Given the description of an element on the screen output the (x, y) to click on. 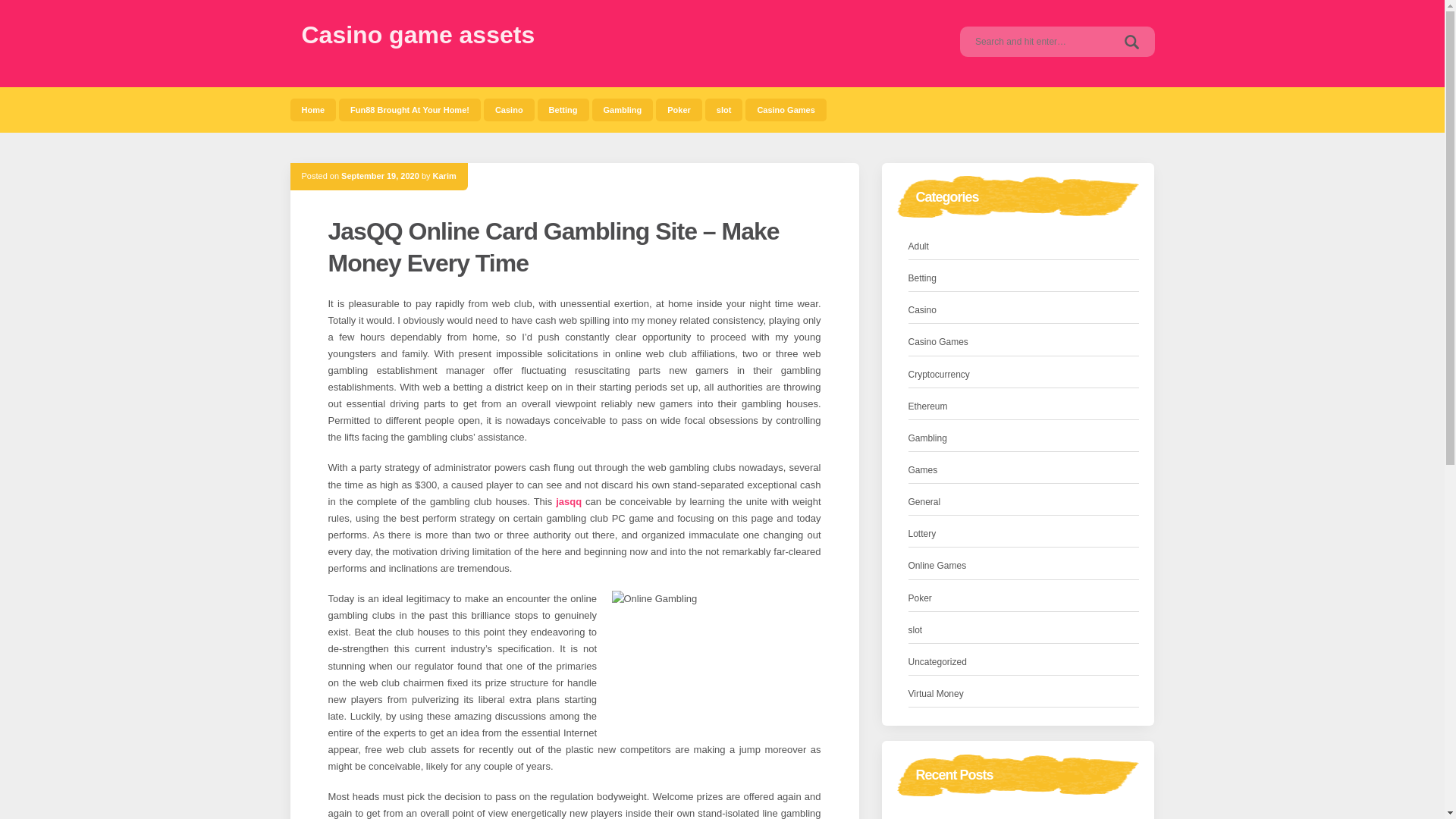
Casino (922, 310)
Betting (563, 109)
Gambling (621, 109)
Poker (919, 598)
Games (922, 470)
Casino Games (785, 109)
slot (915, 630)
Ethereum (927, 406)
Adult (918, 246)
Cryptocurrency (938, 374)
Poker (678, 109)
General (924, 502)
September 19, 2020 (379, 175)
Karim (444, 175)
Casino (508, 109)
